Given the description of an element on the screen output the (x, y) to click on. 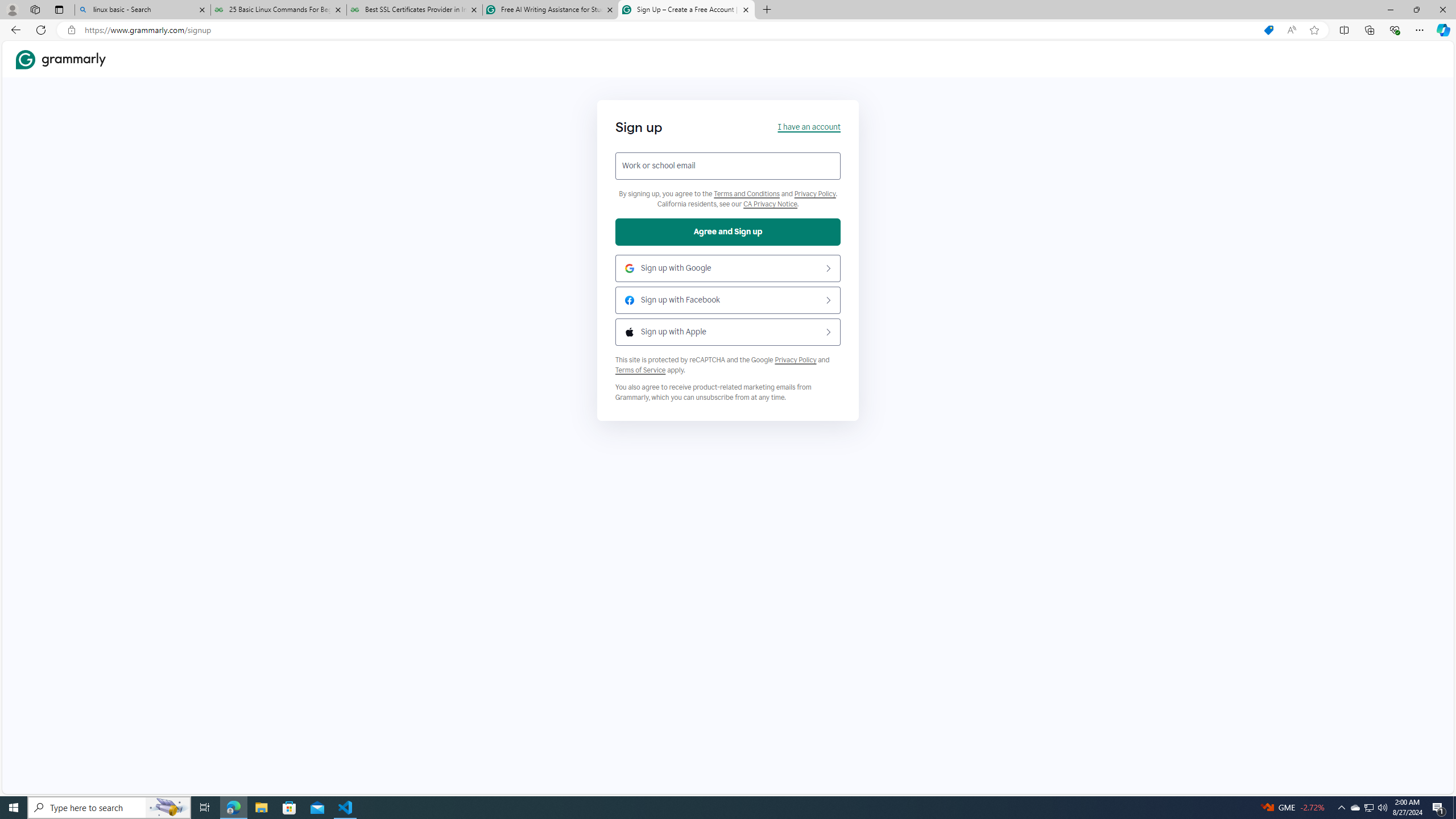
Grammarly Home (61, 59)
Best SSL Certificates Provider in India - GeeksforGeeks (414, 9)
Grammarly Terms and Conditions (746, 194)
Work or school email (727, 166)
Grammarly Privacy Policy (770, 203)
Sign up with Apple (727, 331)
Sign up with Facebook (727, 299)
Sign up with Apple (727, 331)
25 Basic Linux Commands For Beginners - GeeksforGeeks (277, 9)
Sign up with Facebook (727, 299)
